Given the description of an element on the screen output the (x, y) to click on. 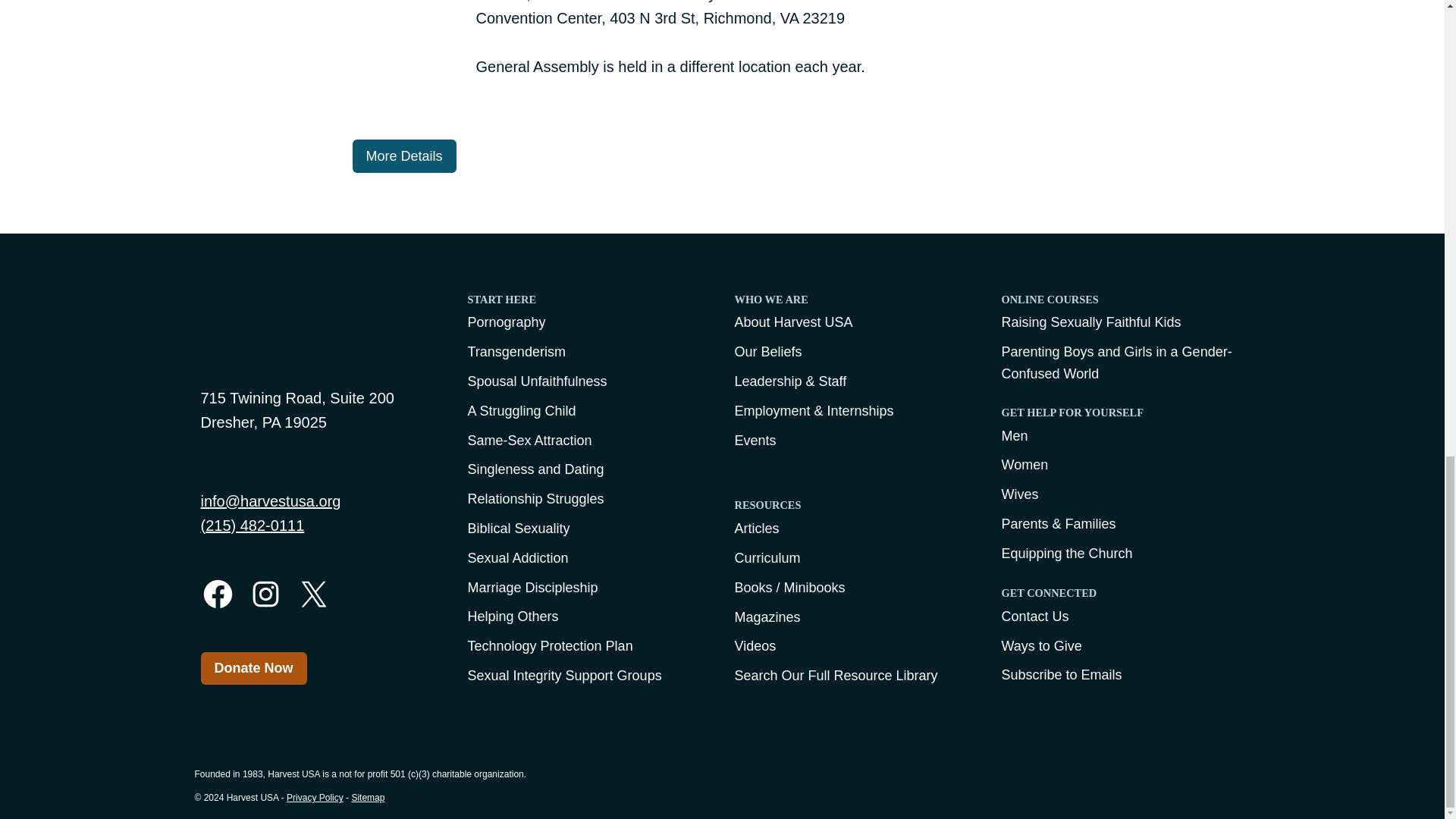
Donate Now (252, 667)
More Details (403, 155)
Follow Harvest USA on Facebook (217, 593)
Same-Sex Attraction (588, 440)
START HERE (588, 303)
Transgenderism (588, 352)
Spousal Unfaithfulness (588, 382)
Pornography (588, 322)
Our Beliefs (854, 352)
A Struggling Child (588, 411)
Sexual Integrity Support Groups (588, 676)
Curriculum (854, 558)
Sexual Addiction (588, 558)
Articles (854, 528)
Marriage Discipleship (588, 587)
